Given the description of an element on the screen output the (x, y) to click on. 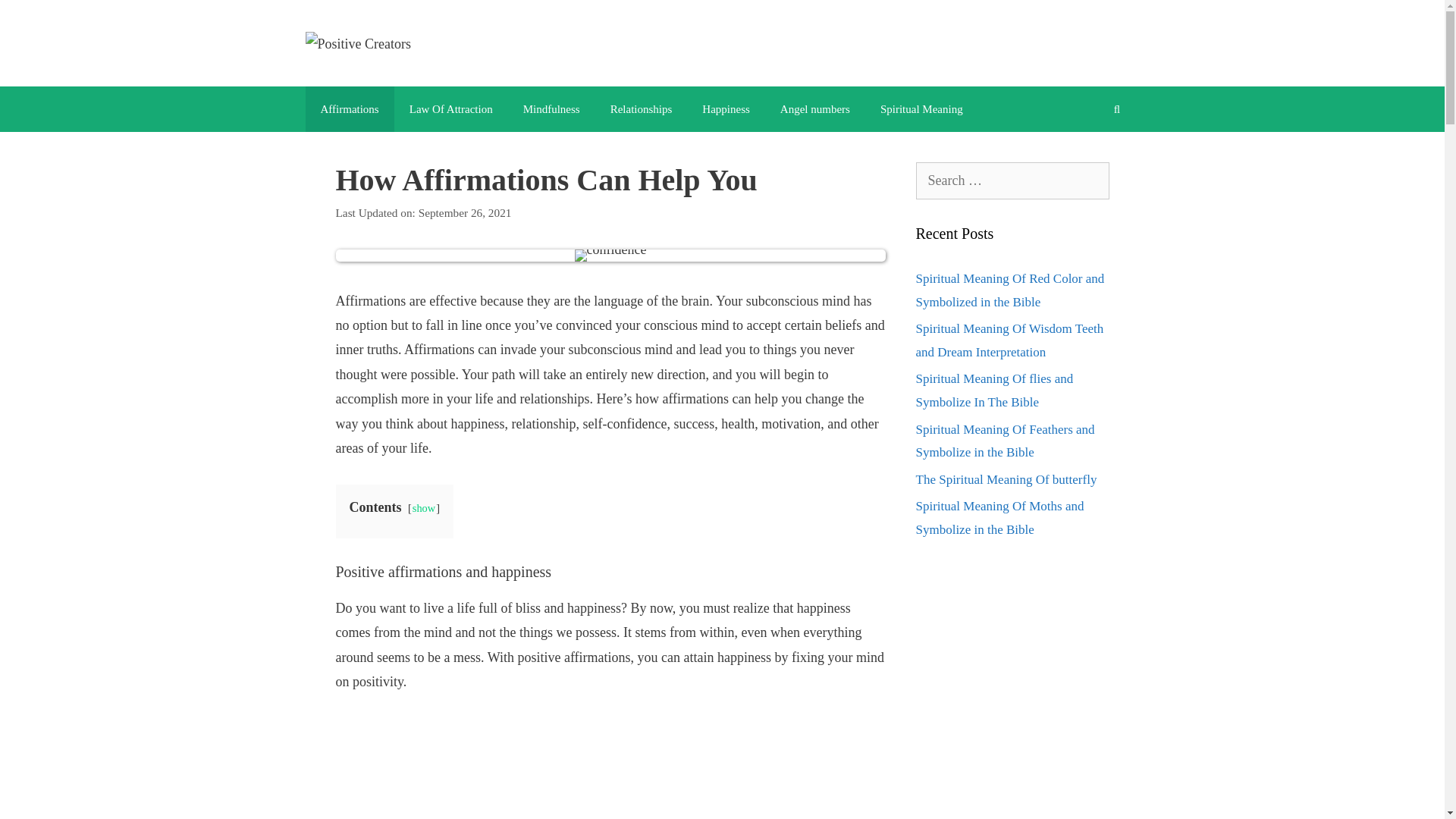
Spiritual Meaning Of Wisdom Teeth and Dream Interpretation (1009, 340)
Affirmations (348, 108)
show (423, 508)
Mindfulness (551, 108)
Relationships (641, 108)
Happiness (726, 108)
Search for: (1012, 180)
Spiritual Meaning Of Moths and Symbolize in the Bible (999, 517)
Spiritual Meaning Of Red Color and Symbolized in the Bible (1010, 290)
Spiritual Meaning Of Feathers and Symbolize in the Bible (1004, 441)
The Spiritual Meaning Of butterfly (1006, 479)
Law Of Attraction (451, 108)
Search (34, 18)
Angel numbers (814, 108)
Spiritual Meaning (921, 108)
